Given the description of an element on the screen output the (x, y) to click on. 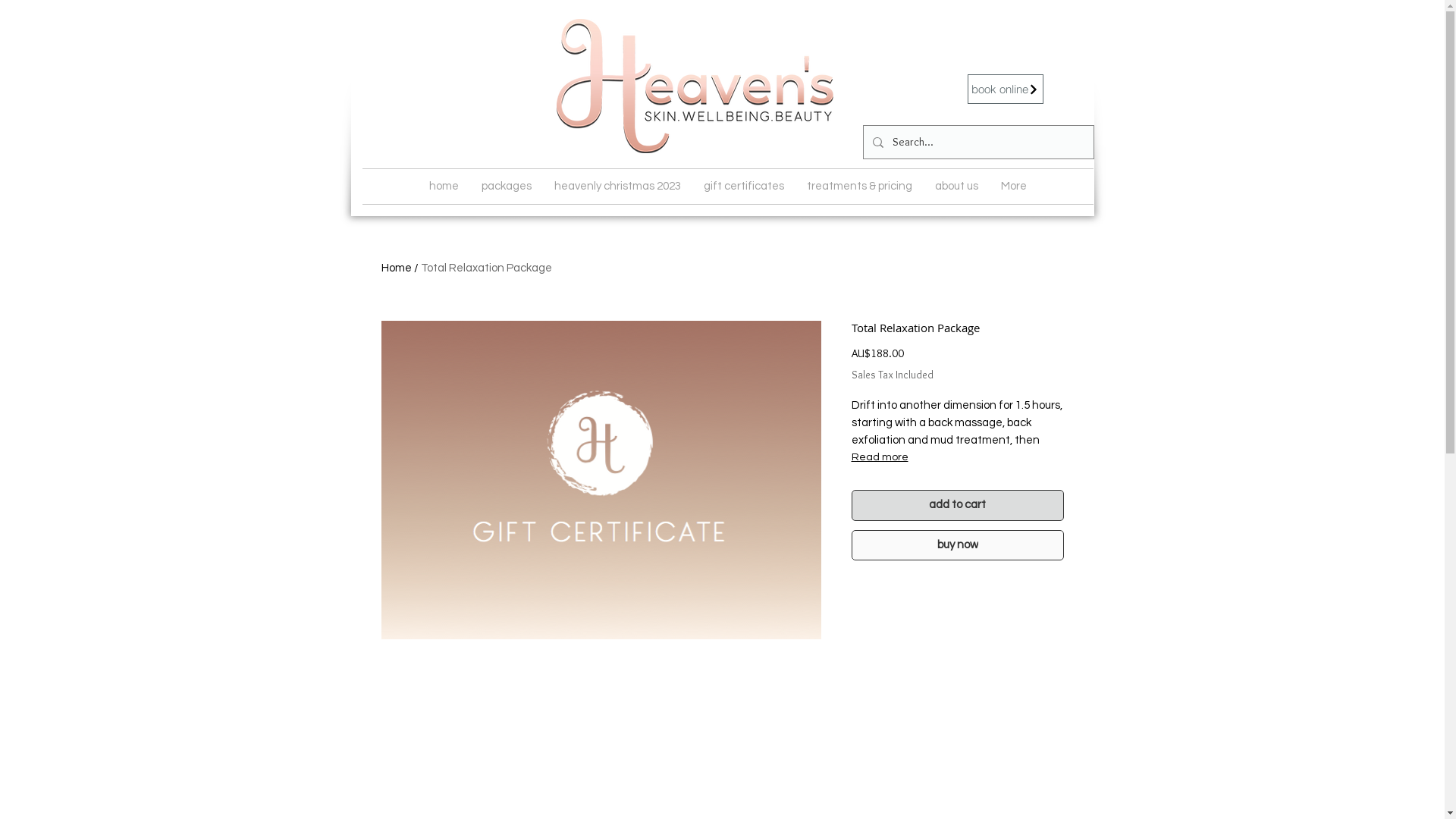
treatments & pricing Element type: text (858, 186)
packages Element type: text (506, 186)
home Element type: text (443, 186)
Total Relaxation Package Element type: text (485, 267)
heavenly christmas 2023 Element type: text (617, 186)
add to cart Element type: text (956, 504)
book online Element type: text (1005, 88)
gift certificates Element type: text (742, 186)
Read more Element type: text (956, 456)
buy now Element type: text (956, 545)
about us Element type: text (956, 186)
Home Element type: text (395, 267)
